Given the description of an element on the screen output the (x, y) to click on. 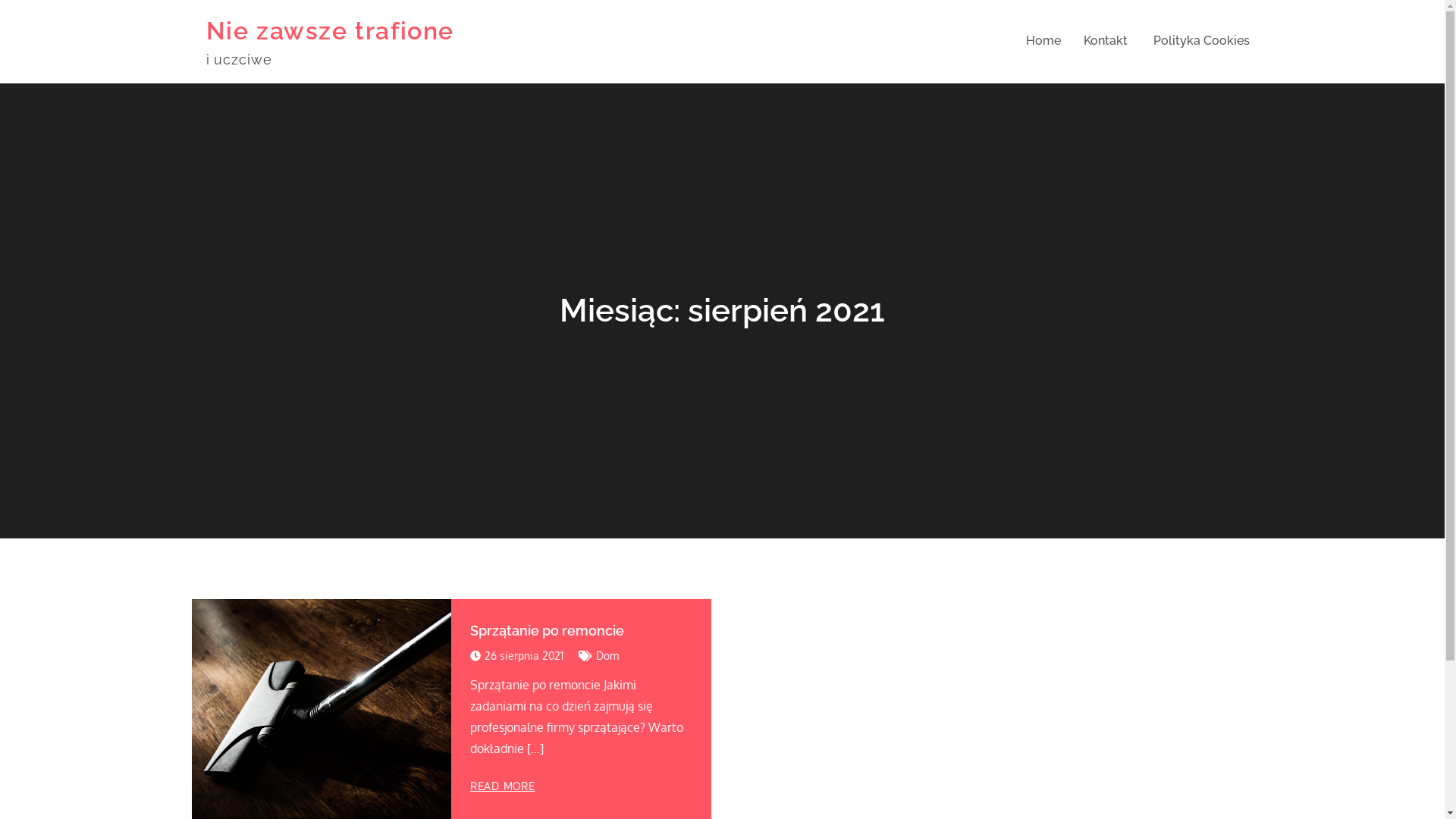
Kontakt Element type: text (1104, 40)
26 sierpnia 2021 Element type: text (516, 655)
Nie zawsze trafione Element type: text (330, 30)
Dom Element type: text (607, 655)
READ MORE Element type: text (502, 786)
Polityka Cookies Element type: text (1200, 40)
Home Element type: text (1042, 40)
